Given the description of an element on the screen output the (x, y) to click on. 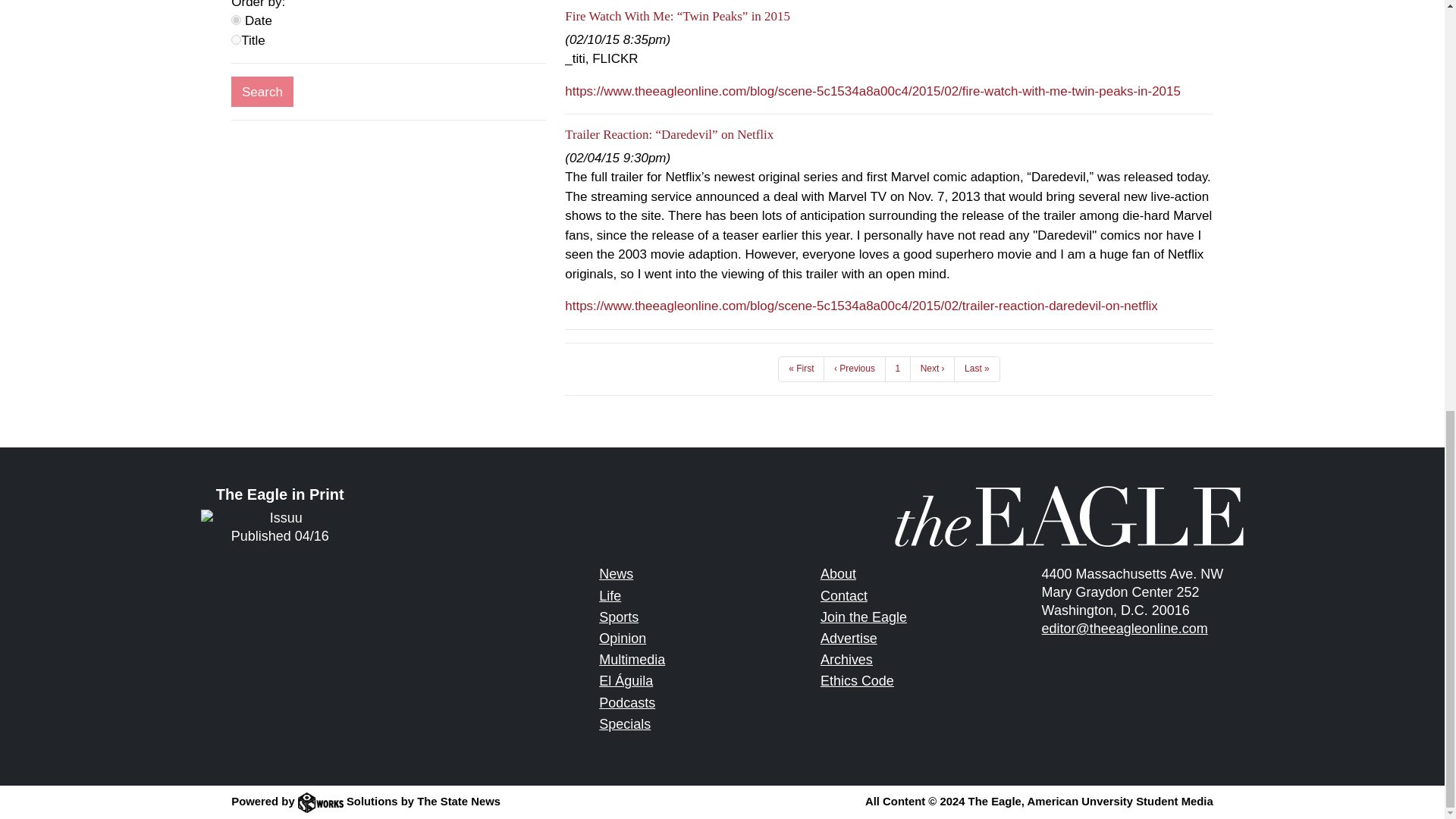
Search (261, 91)
date (236, 20)
title (236, 40)
